Given the description of an element on the screen output the (x, y) to click on. 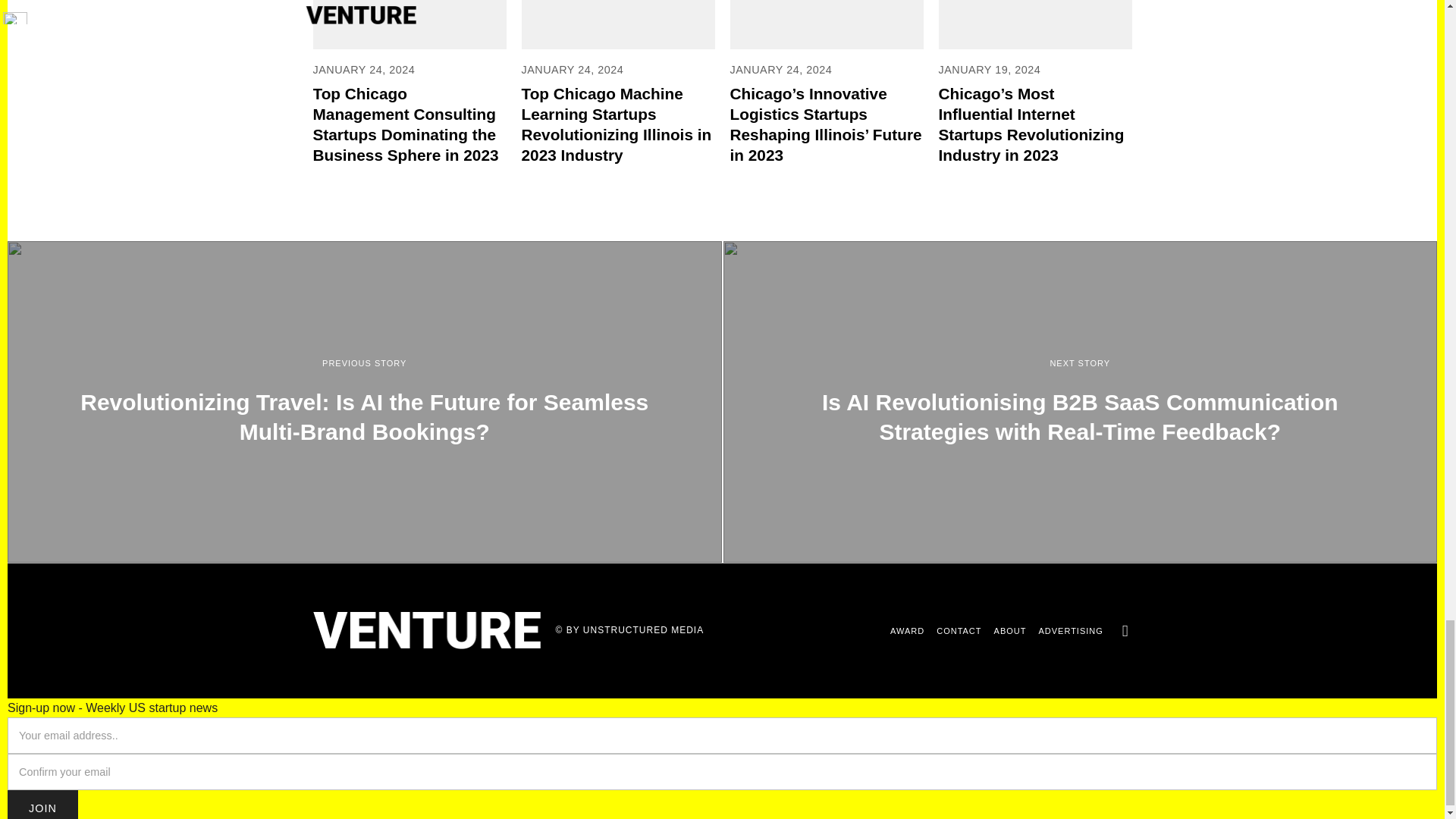
LinkedIn (1125, 630)
